Given the description of an element on the screen output the (x, y) to click on. 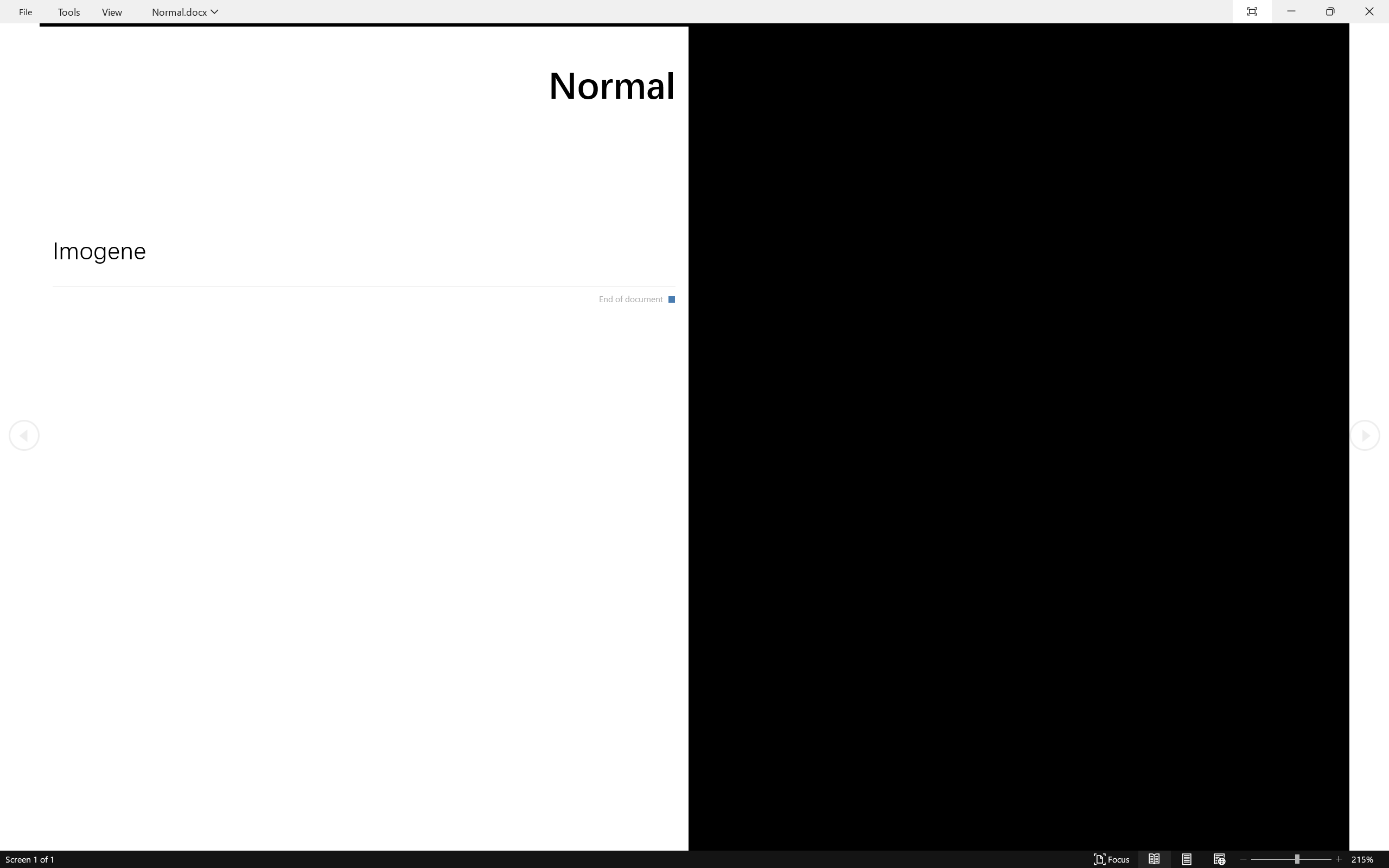
Class: Net UI Tool Window Layered (694, 11)
Class: NetUIScrollBar (694, 860)
